Given the description of an element on the screen output the (x, y) to click on. 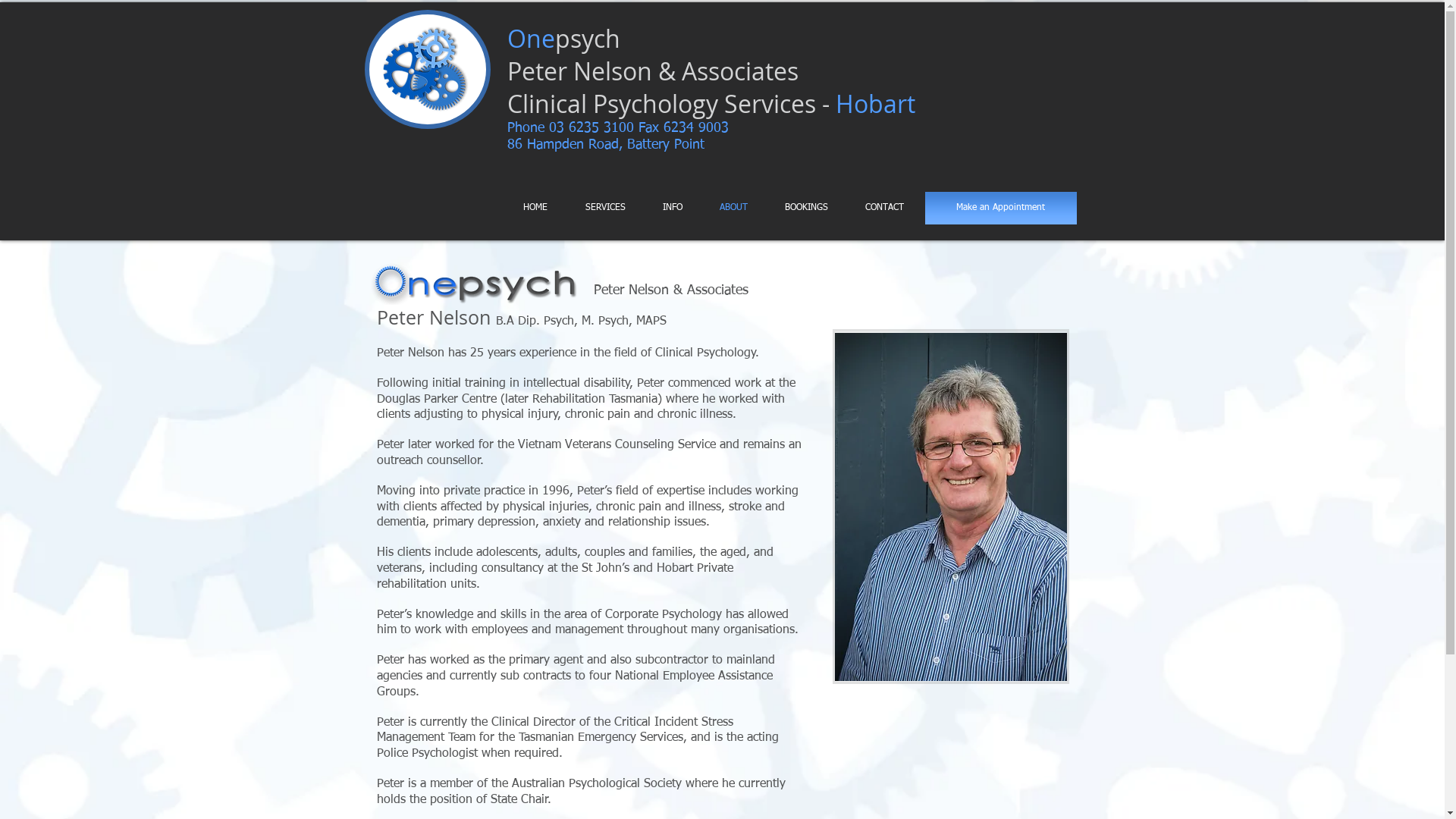
SERVICES Element type: text (607, 207)
Make an Appointment Element type: text (1000, 207)
INFO Element type: text (674, 207)
ABOUT Element type: text (735, 207)
CONTACT Element type: text (887, 207)
HOME Element type: text (537, 207)
BOOKINGS Element type: text (808, 207)
